Given the description of an element on the screen output the (x, y) to click on. 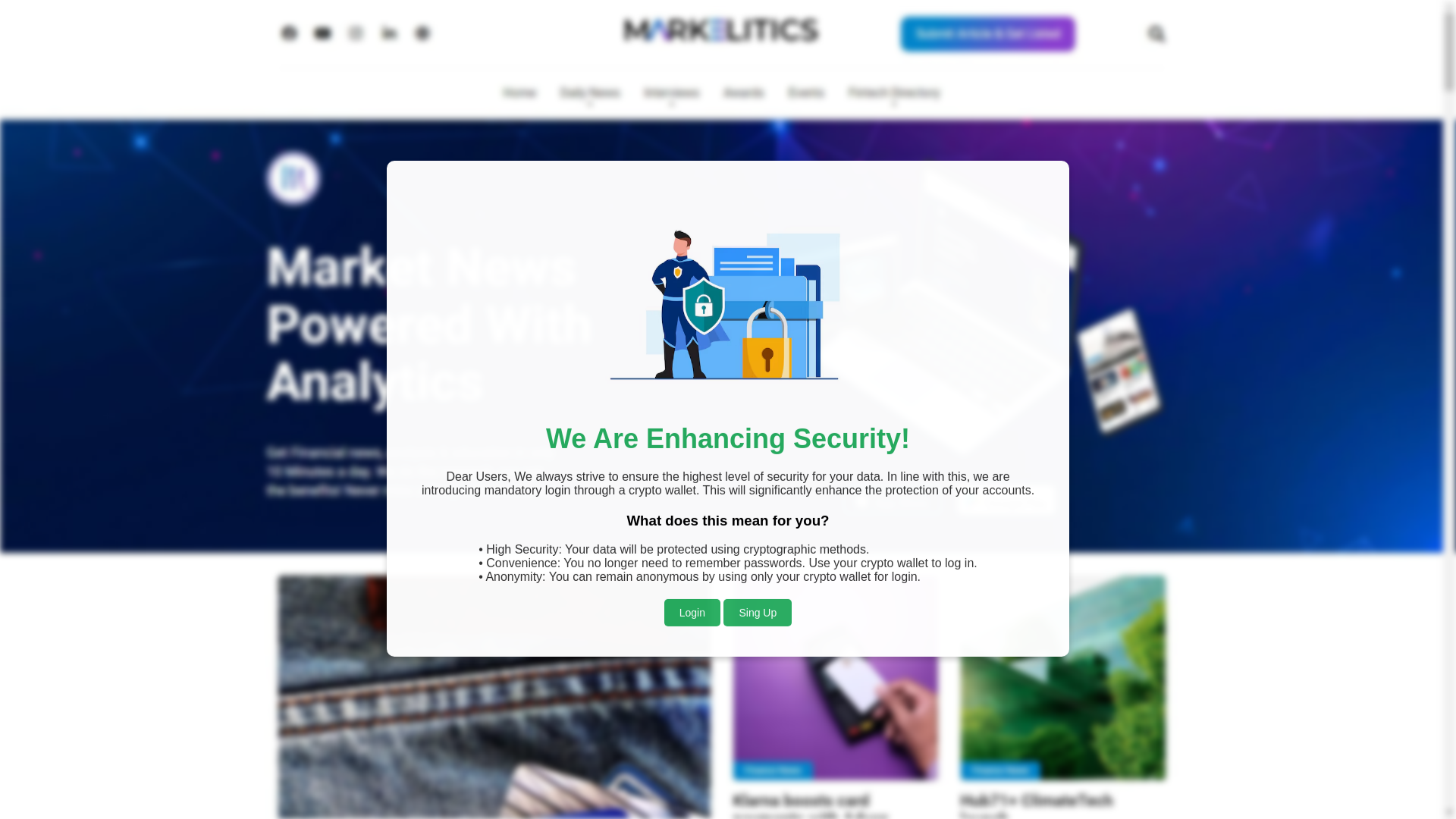
Login (691, 574)
Sing Up (757, 575)
